Given the description of an element on the screen output the (x, y) to click on. 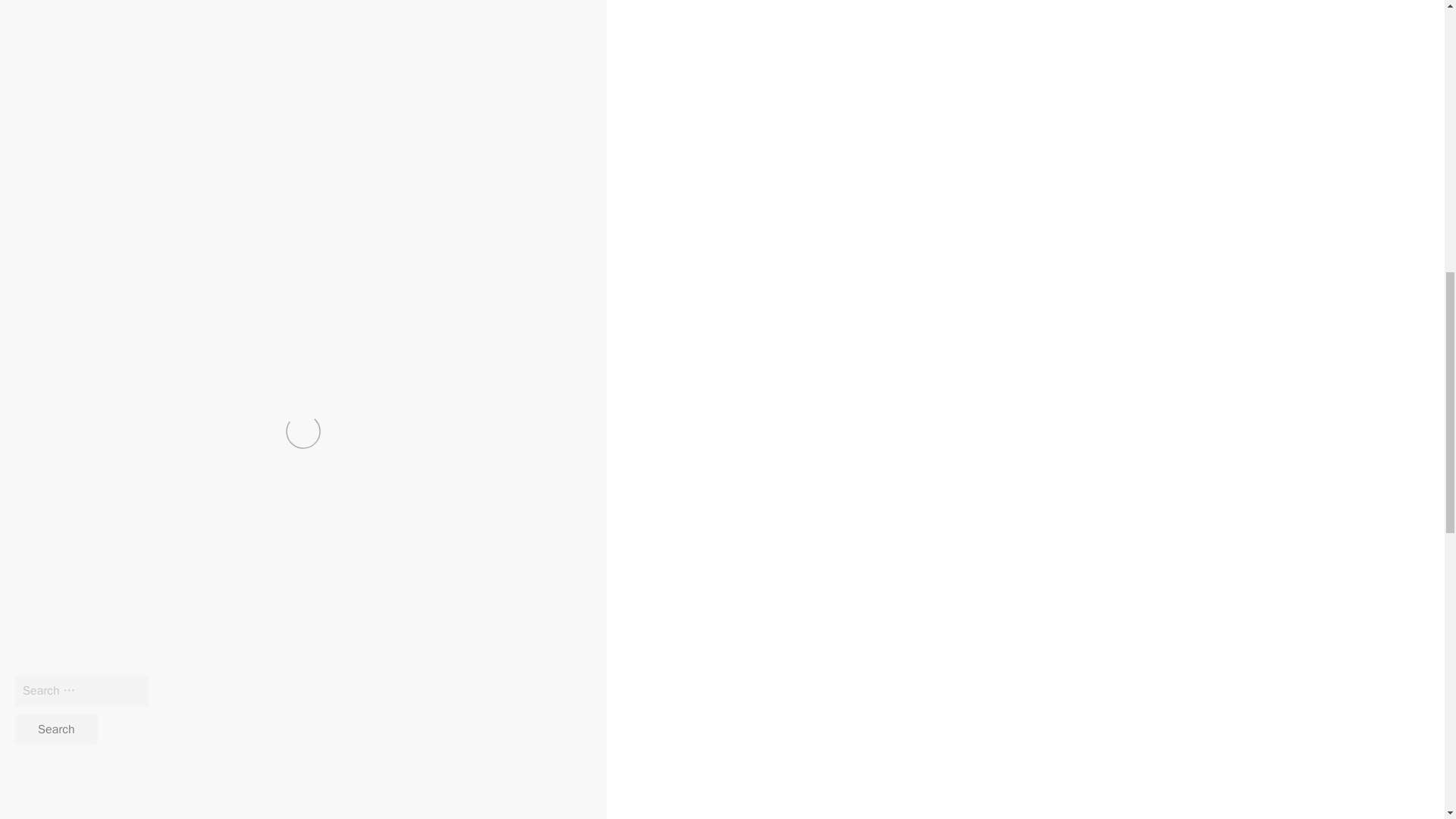
Gambling (464, 730)
Next: Disadvantages of Gambling (95, 639)
Search (55, 729)
March 2024 (275, 813)
May 2024 (270, 781)
Gambling (85, 589)
Previous: How to Play Slots Online (98, 621)
June 2024 (271, 764)
August 2024 (277, 730)
Search (55, 729)
